Given the description of an element on the screen output the (x, y) to click on. 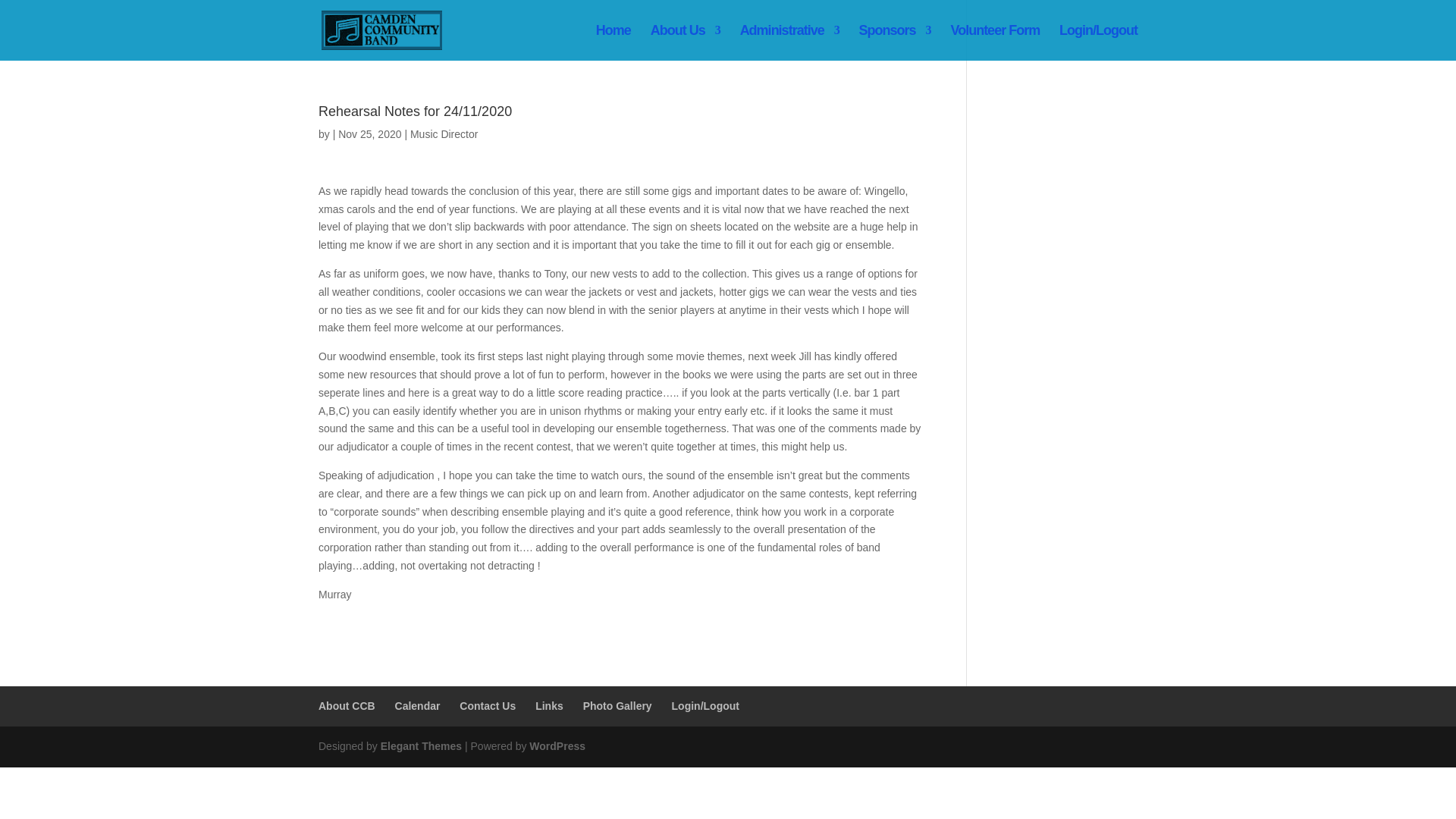
About Us (685, 42)
Sponsors (895, 42)
Administrative (789, 42)
Premium WordPress Themes (420, 746)
Volunteer Form (994, 42)
Home (612, 42)
